Given the description of an element on the screen output the (x, y) to click on. 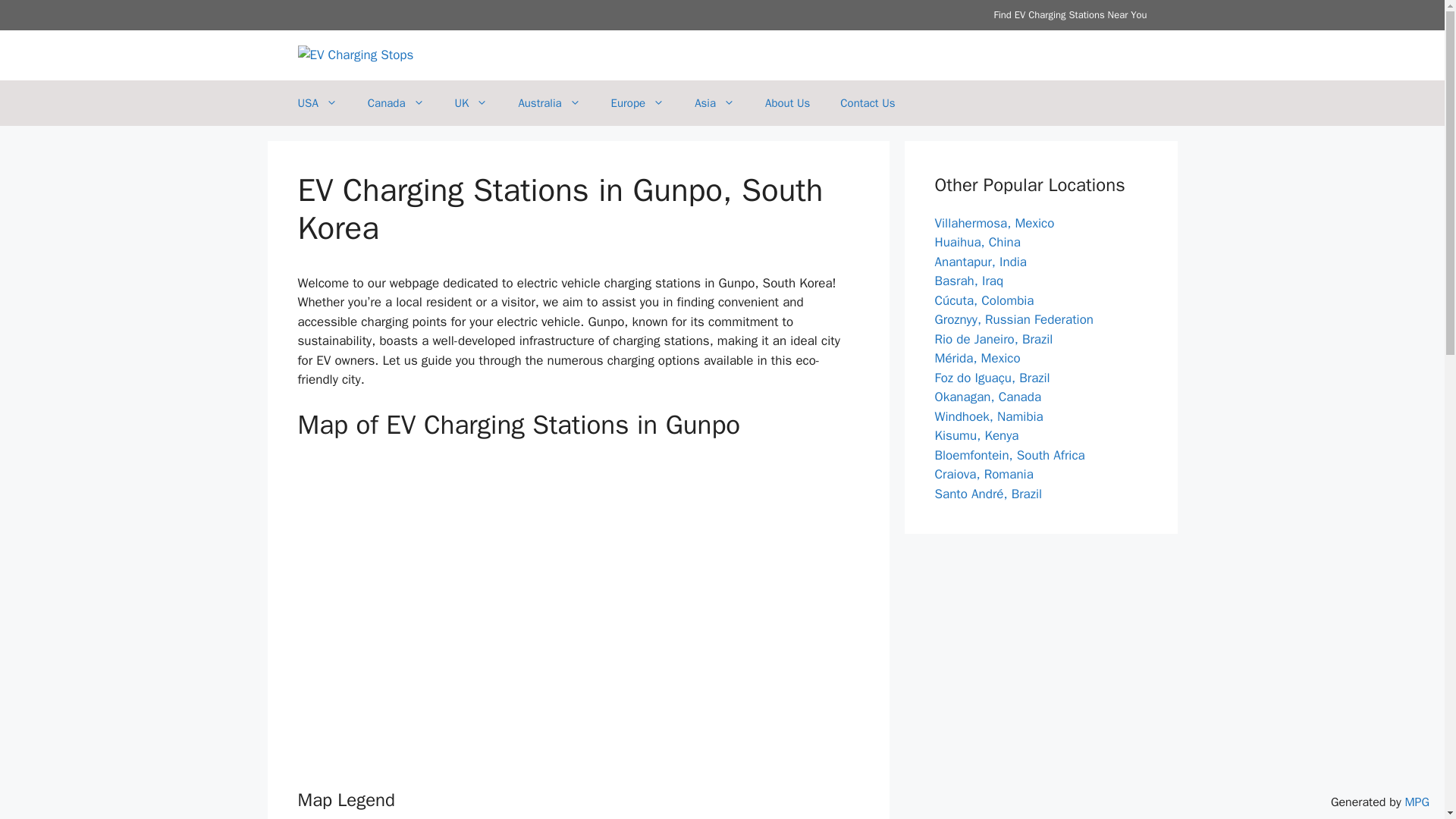
UK (471, 103)
USA (317, 103)
Canada (395, 103)
Australia (548, 103)
